Given the description of an element on the screen output the (x, y) to click on. 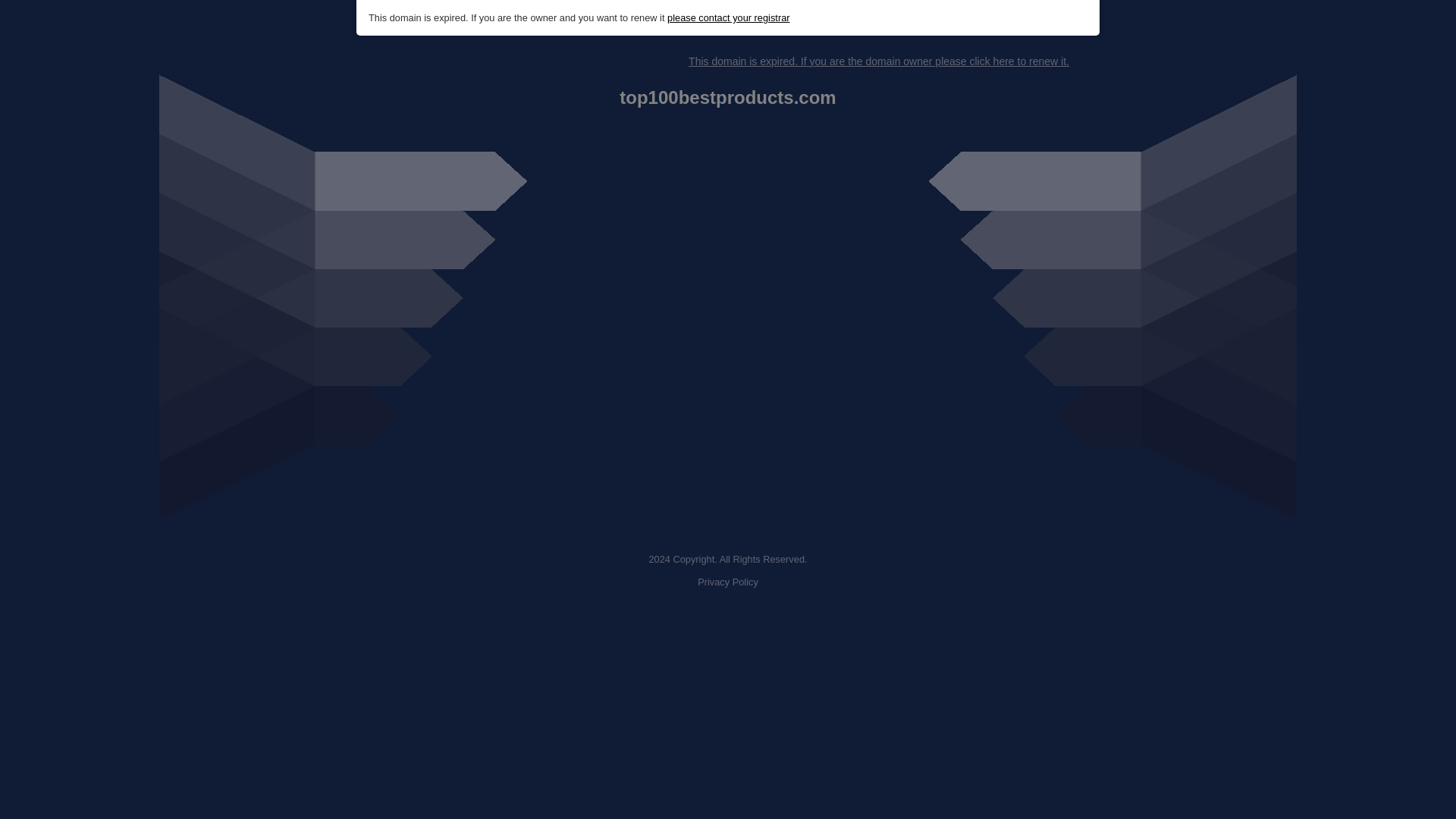
please contact your registrar (727, 17)
Privacy Policy (727, 582)
